Given the description of an element on the screen output the (x, y) to click on. 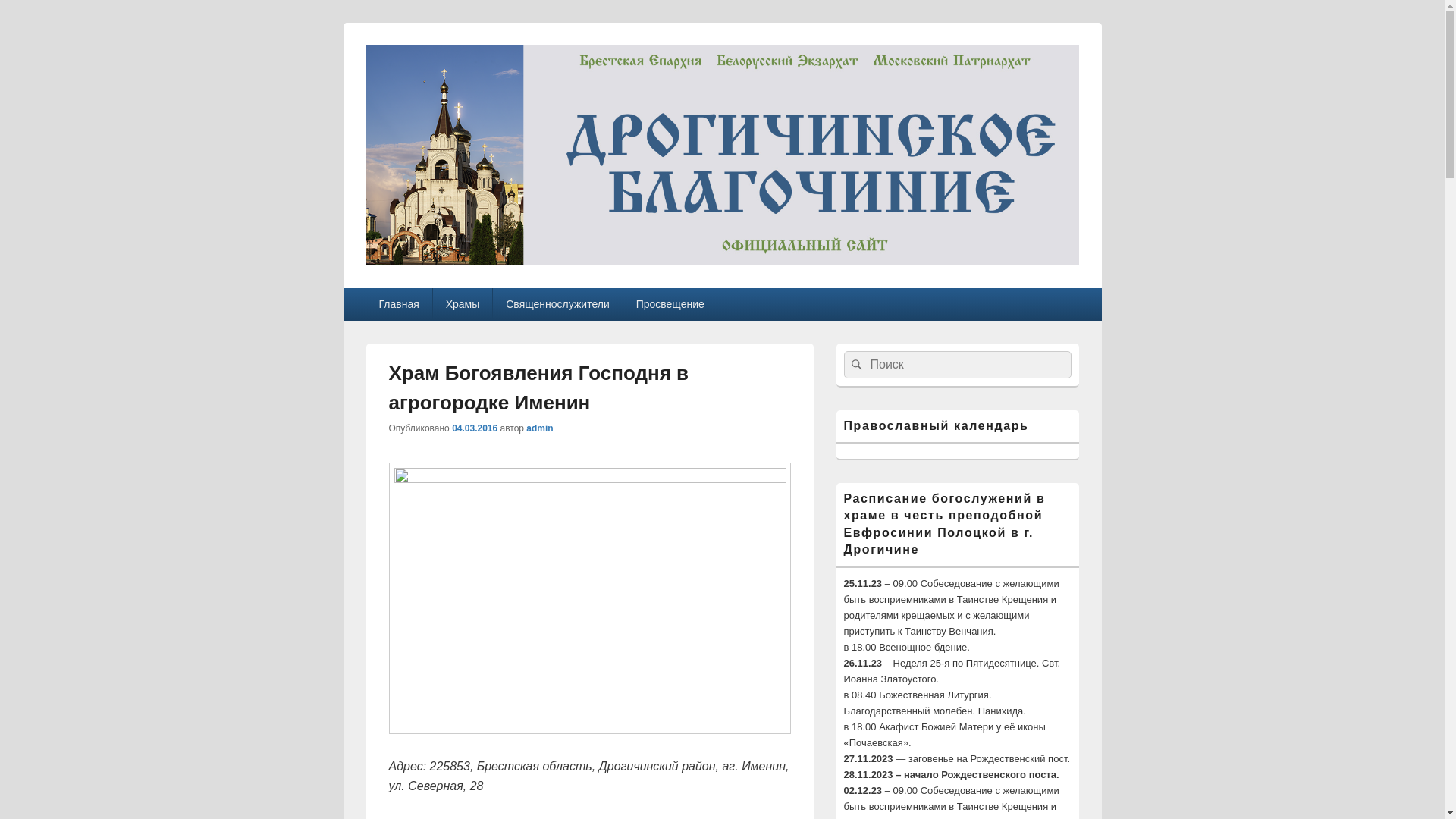
04.03.2016 Element type: text (474, 428)
admin Element type: text (539, 428)
Search for: Element type: hover (956, 364)
